Given the description of an element on the screen output the (x, y) to click on. 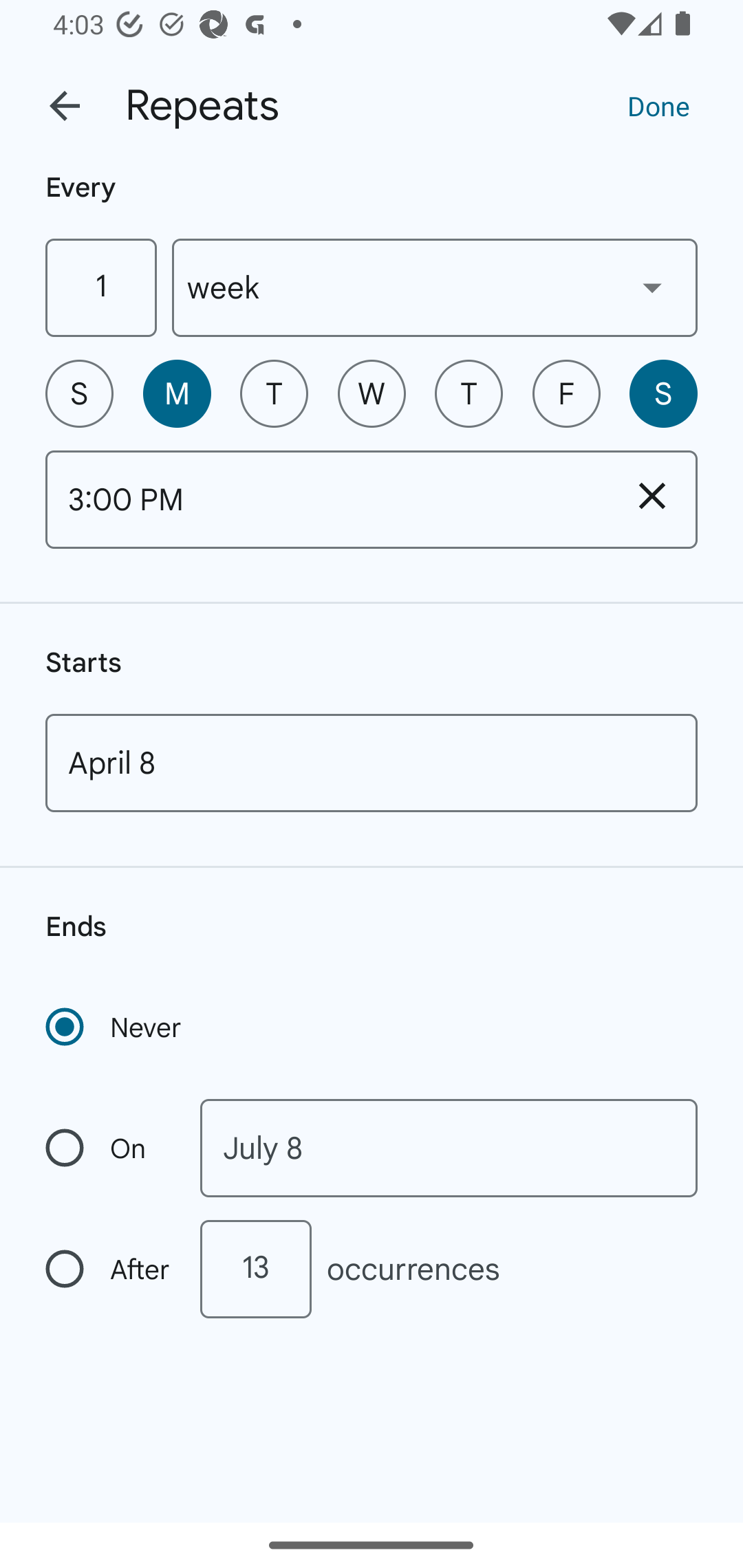
Back (64, 105)
Done (658, 105)
1 (100, 287)
week (434, 287)
Show dropdown menu (652, 286)
S Sunday (79, 393)
M Monday, selected (177, 393)
T Tuesday (273, 393)
W Wednesday (371, 393)
T Thursday (468, 393)
F Friday (566, 393)
S Saturday, selected (663, 393)
3:00 PM (326, 499)
Remove 3:00 PM (652, 495)
April 8 (371, 762)
Never Recurrence never ends (115, 1026)
July 8 (448, 1148)
On Recurrence ends on a specific date (109, 1148)
13 (255, 1268)
